Given the description of an element on the screen output the (x, y) to click on. 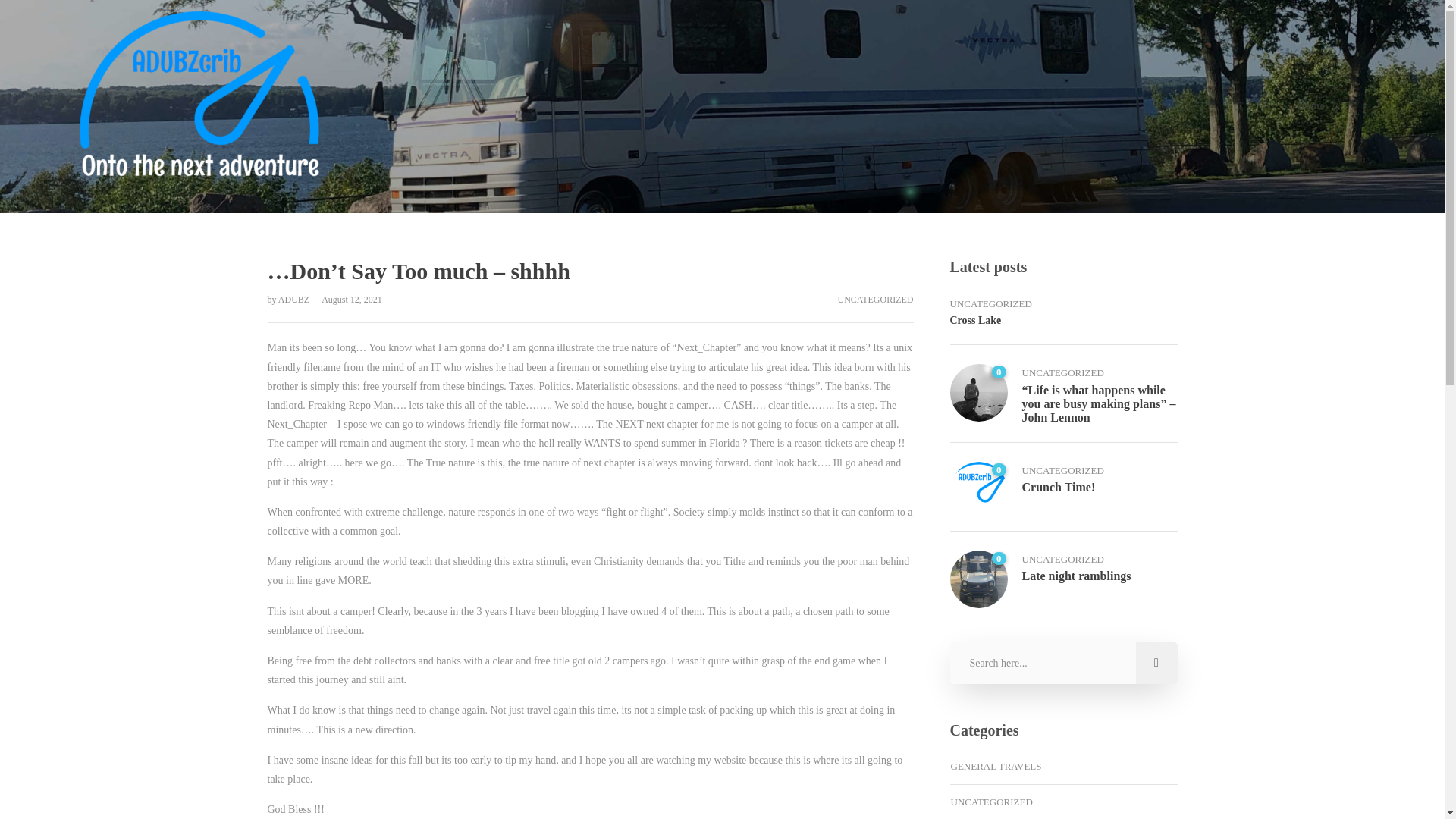
UNCATEGORIZED (874, 299)
Search text (1062, 663)
ADUBZ (294, 299)
0 (978, 490)
UNCATEGORIZED (1062, 372)
UNCATEGORIZED (1062, 470)
Late night ramblings (1099, 583)
UNCATEGORIZED (1062, 559)
August 12, 2021 (346, 299)
0 (978, 392)
